Given the description of an element on the screen output the (x, y) to click on. 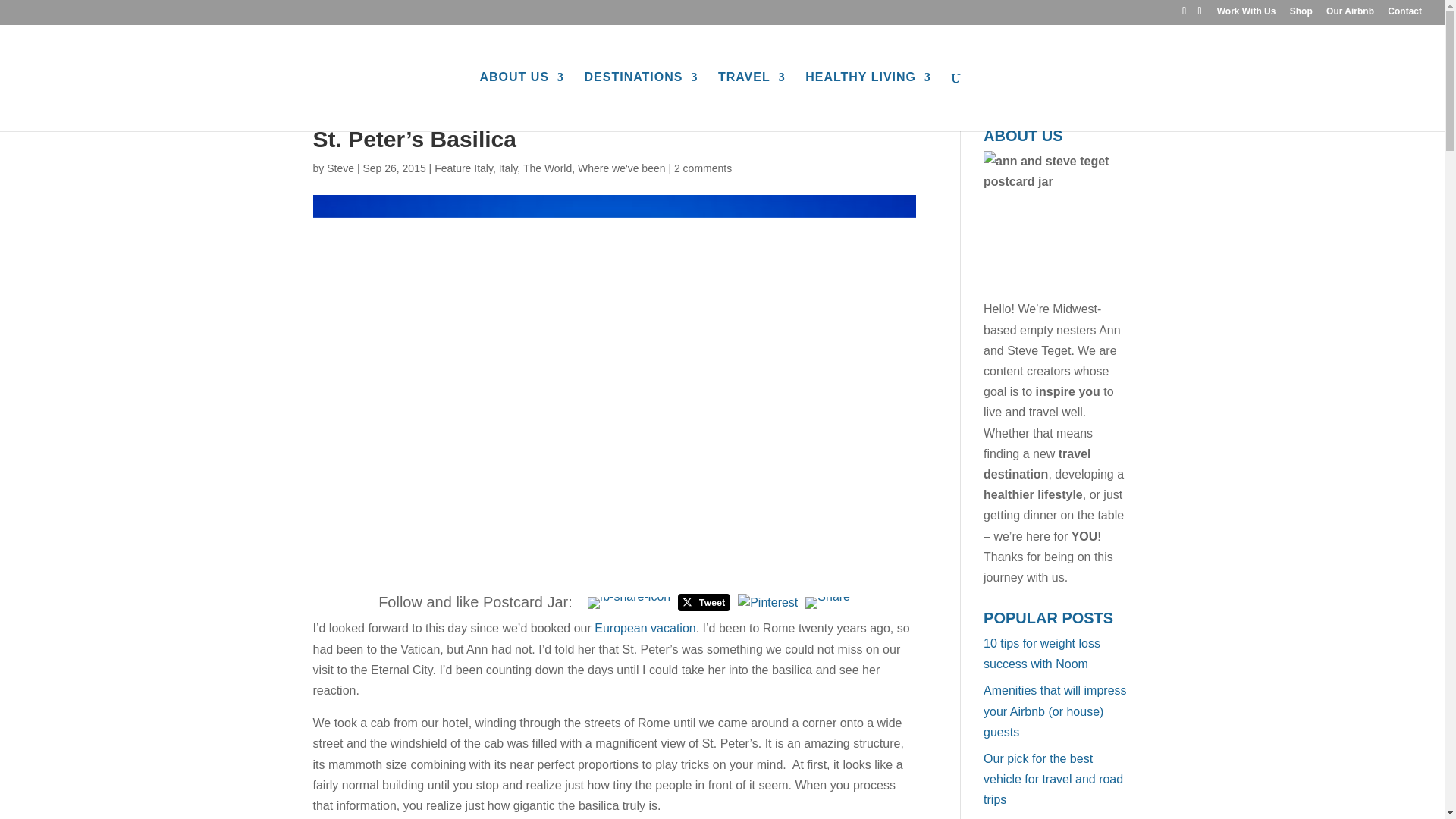
The World (547, 168)
Work With Us (1246, 14)
Contact (1404, 14)
Italy (508, 168)
Our Airbnb (1350, 14)
TRAVEL (751, 101)
Where we've been (621, 168)
Facebook Share (628, 603)
Tweet (704, 601)
Feature Italy (463, 168)
